Given the description of an element on the screen output the (x, y) to click on. 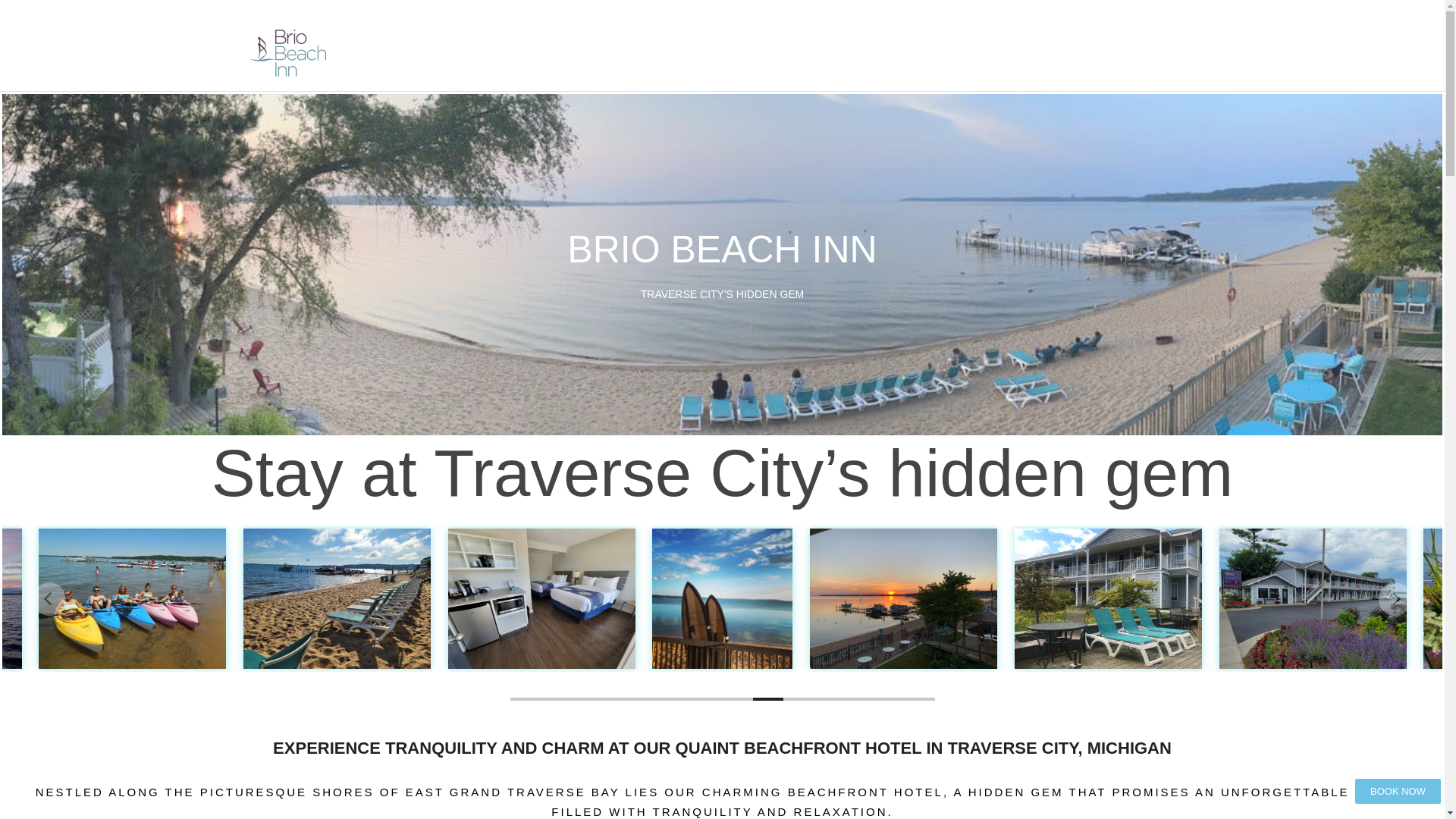
BOOK NOW (1398, 790)
